Given the description of an element on the screen output the (x, y) to click on. 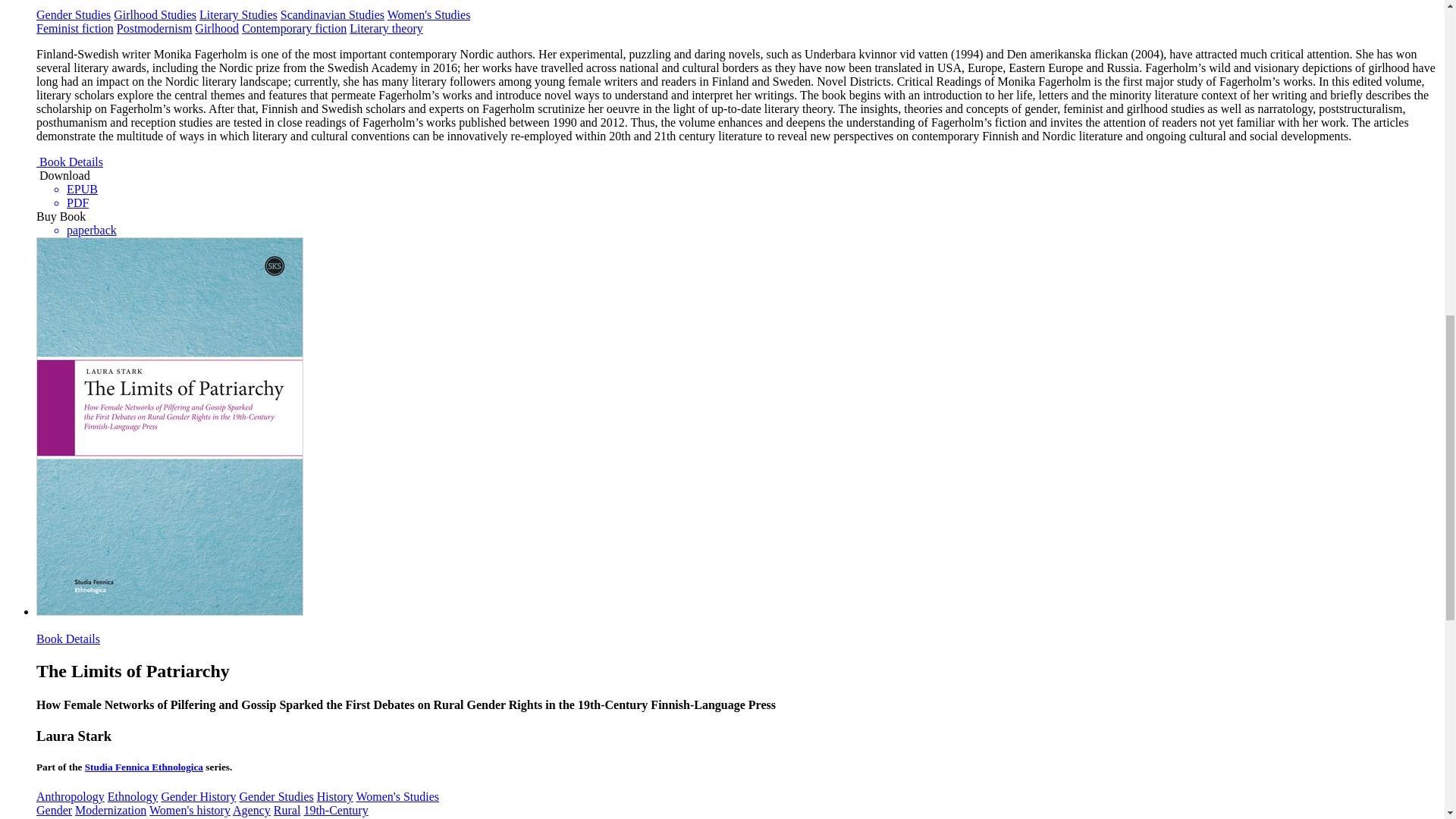
History (335, 796)
Literary theory (385, 28)
Postmodernism (154, 28)
Gender Studies (277, 796)
Girlhood Studies (154, 14)
Literary Studies (238, 14)
Feminist fiction (74, 28)
Women's Studies (428, 14)
Scandinavian Studies (332, 14)
Gender Studies (73, 14)
Anthropology (70, 796)
Ethnology (132, 796)
Studia Fennica Ethnologica (143, 767)
Women's Studies (397, 796)
Gender History (197, 796)
